Given the description of an element on the screen output the (x, y) to click on. 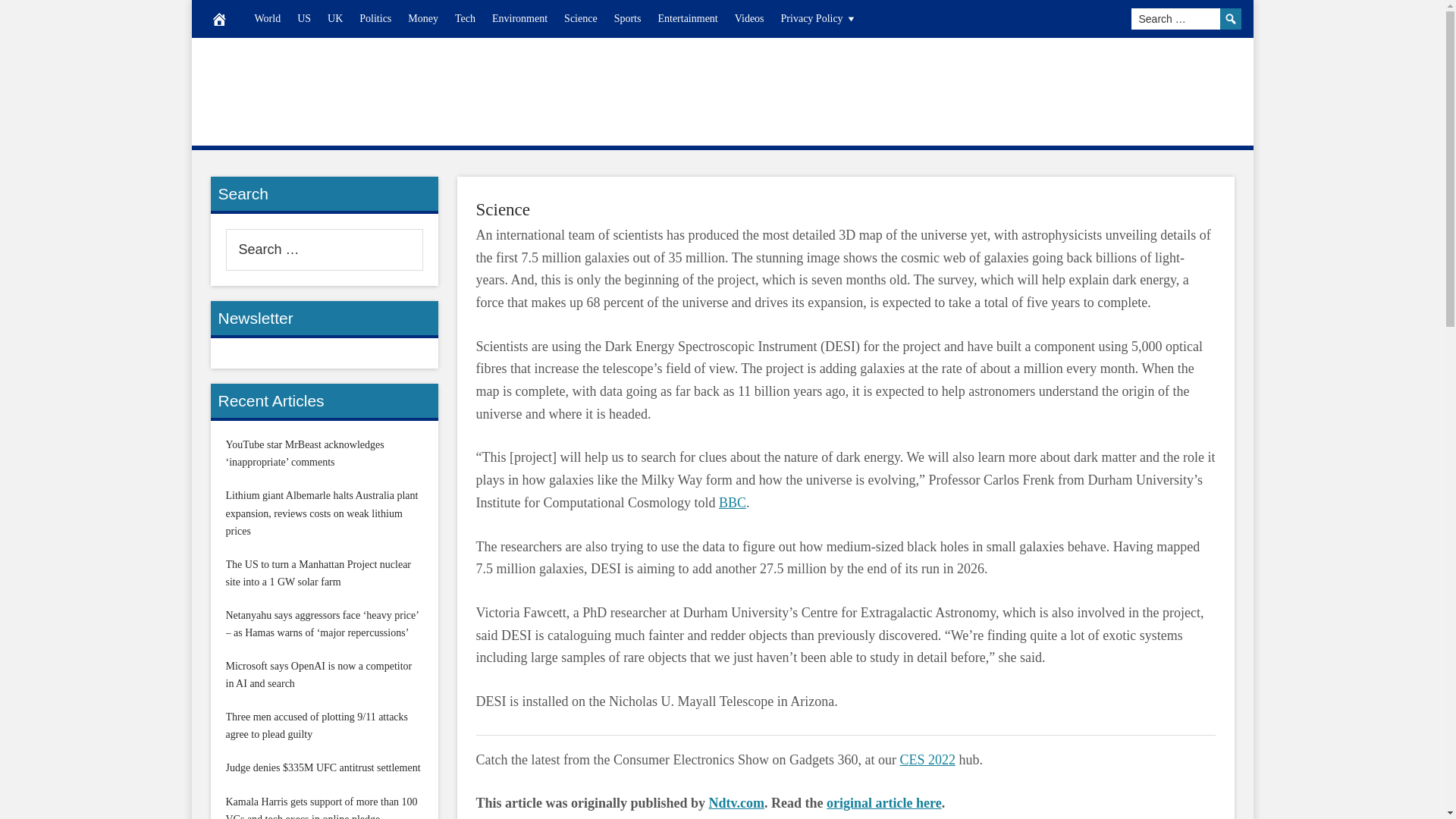
Videos (749, 18)
Tech (464, 18)
World (267, 18)
Sports (627, 18)
Politics (374, 18)
Environment (519, 18)
Science (580, 18)
Money (422, 18)
